Given the description of an element on the screen output the (x, y) to click on. 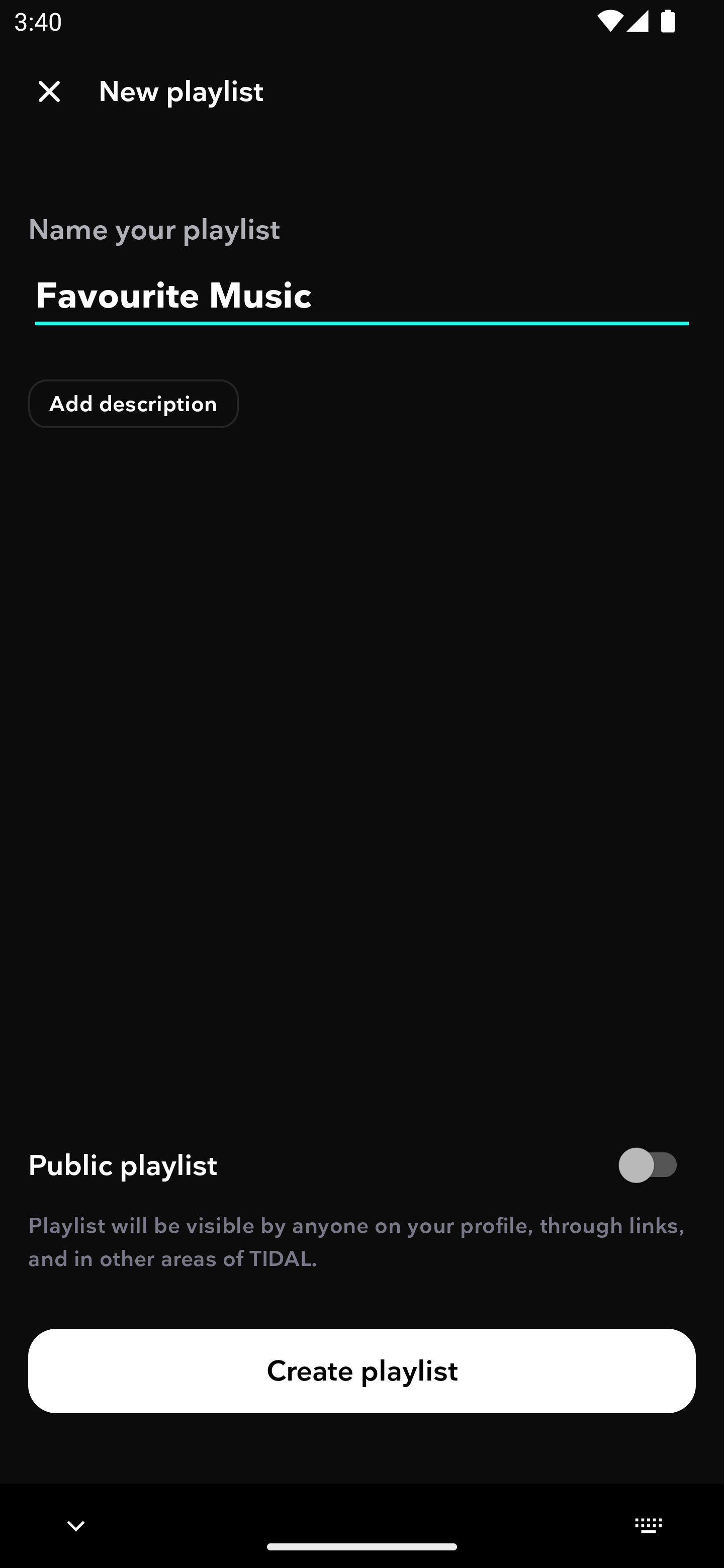
Back (49, 91)
Favourite Music (361, 295)
Add description (133, 403)
Create playlist (361, 1370)
